Given the description of an element on the screen output the (x, y) to click on. 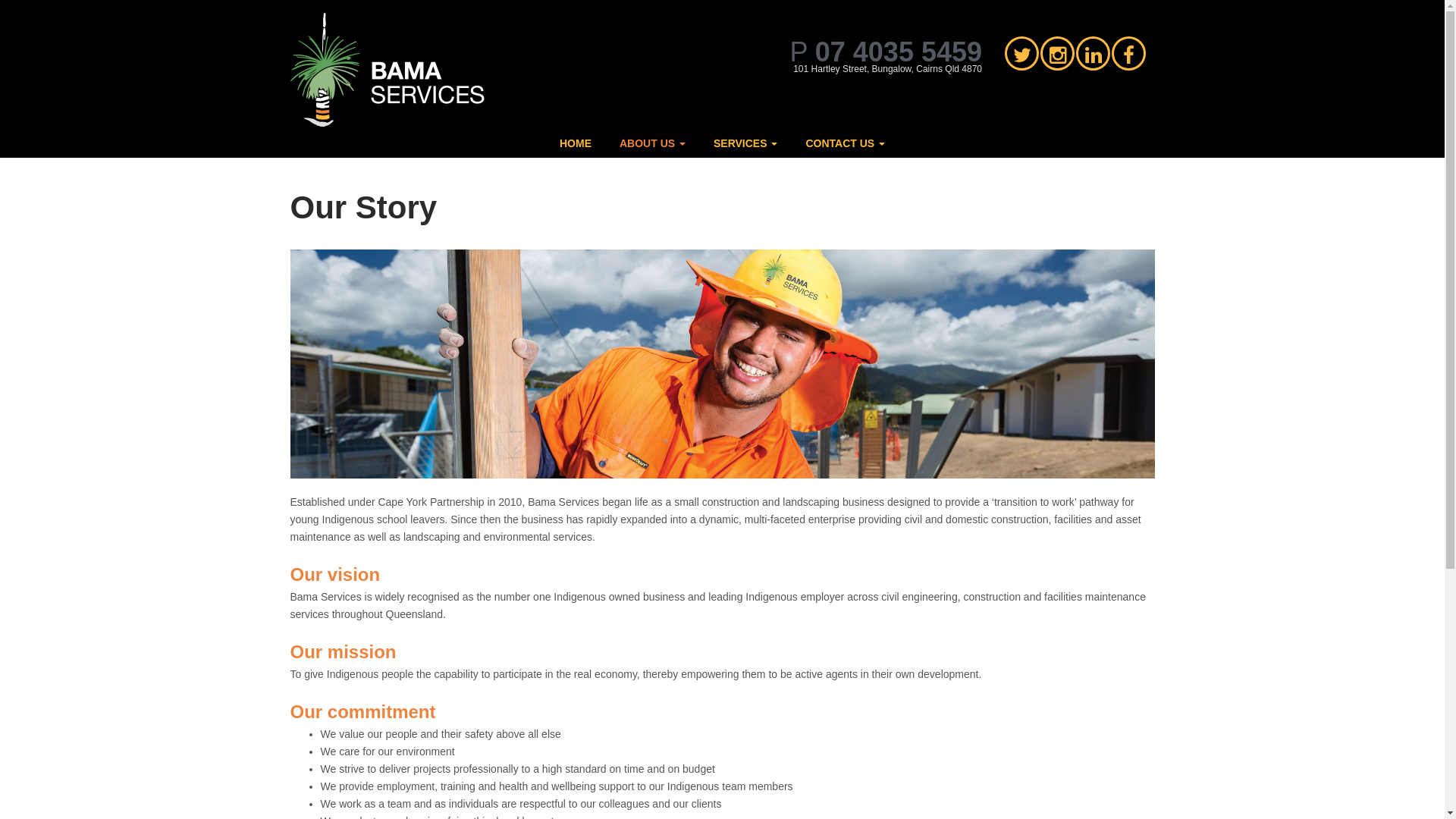
07 4035 5459 Element type: text (898, 51)
ABOUT US Element type: text (652, 143)
CONTACT US Element type: text (845, 143)
SERVICES Element type: text (745, 143)
HOME Element type: text (575, 143)
